Given the description of an element on the screen output the (x, y) to click on. 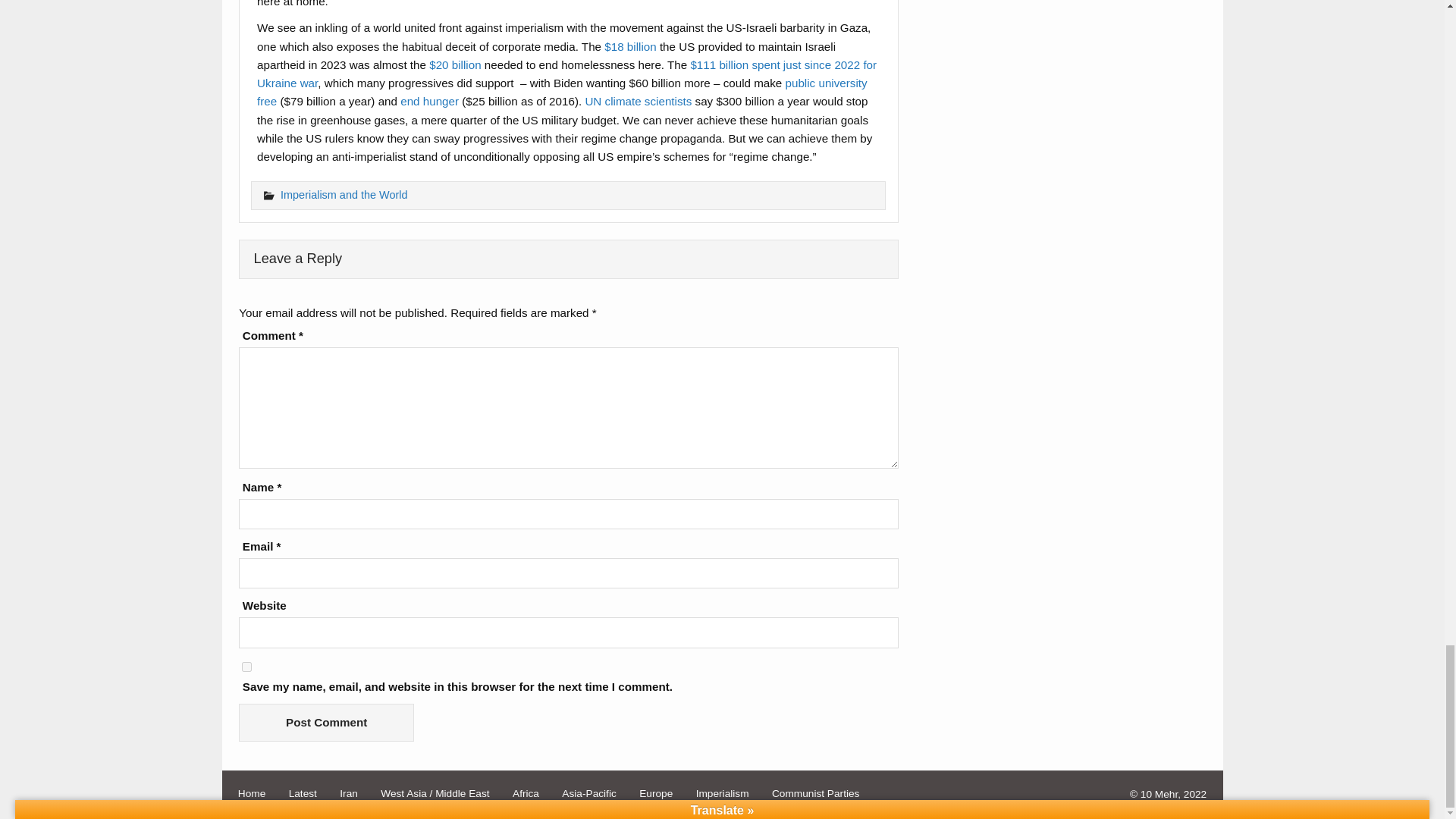
Post Comment (325, 722)
yes (246, 666)
